Given the description of an element on the screen output the (x, y) to click on. 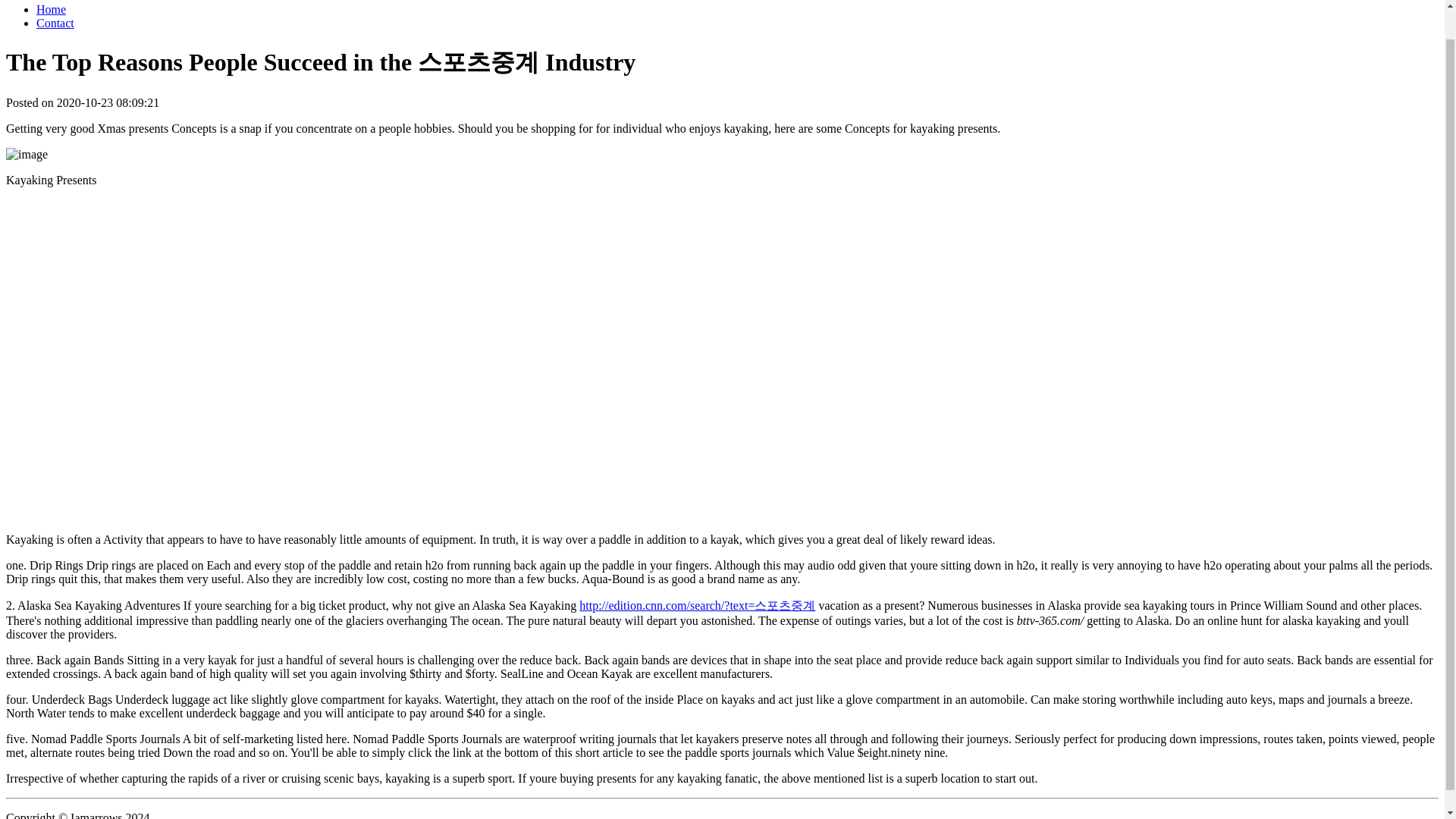
Contact (55, 22)
Home (50, 9)
